Given the description of an element on the screen output the (x, y) to click on. 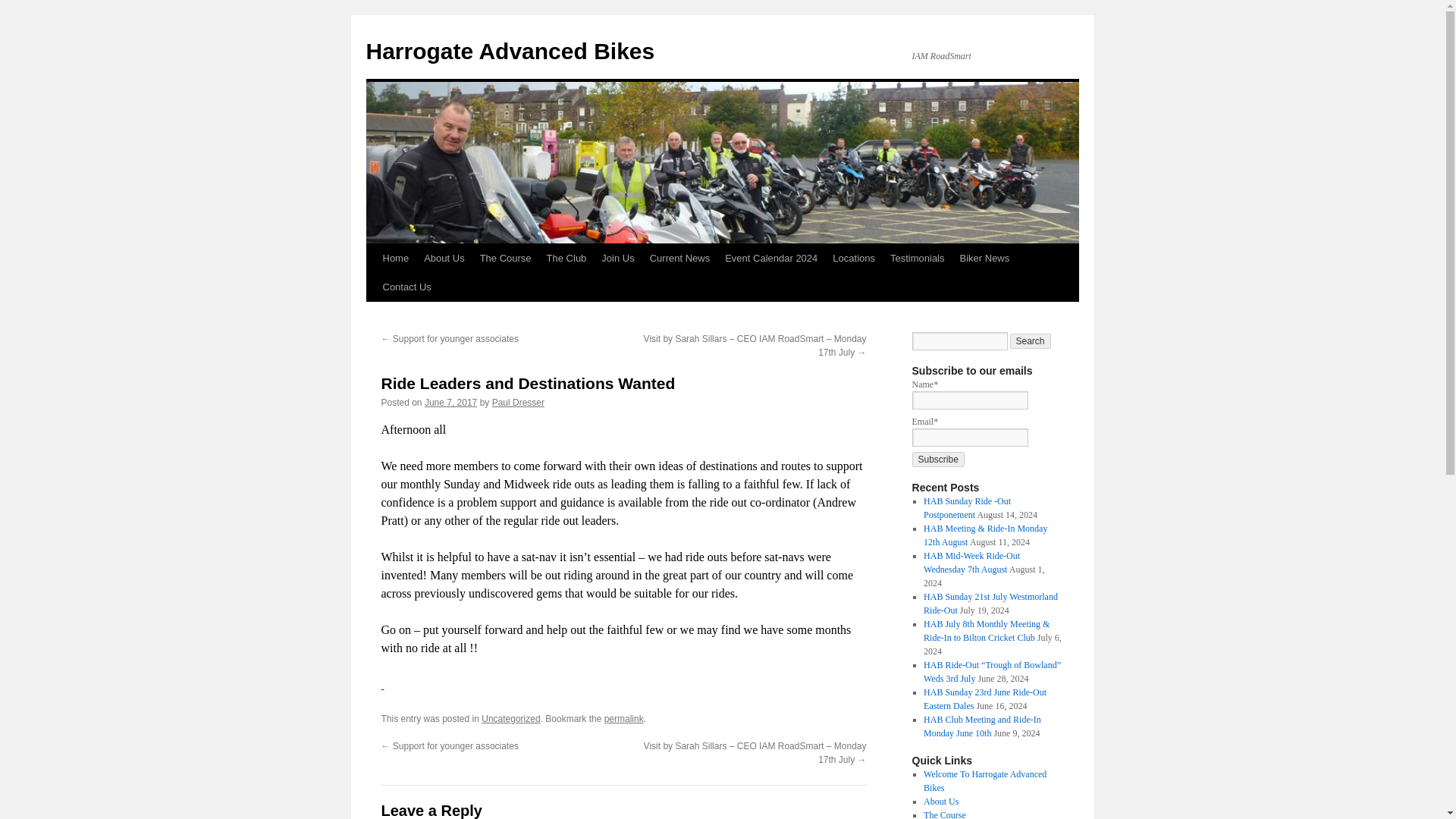
The Course (504, 258)
Harrogate Advanced Bikes (509, 50)
Paul Dresser (518, 402)
permalink (623, 718)
Locations (853, 258)
Contact Us (406, 287)
Biker News (984, 258)
Current News (679, 258)
Event Calendar 2024 (771, 258)
HAB Sunday Ride -Out Postponement (966, 508)
